Given the description of an element on the screen output the (x, y) to click on. 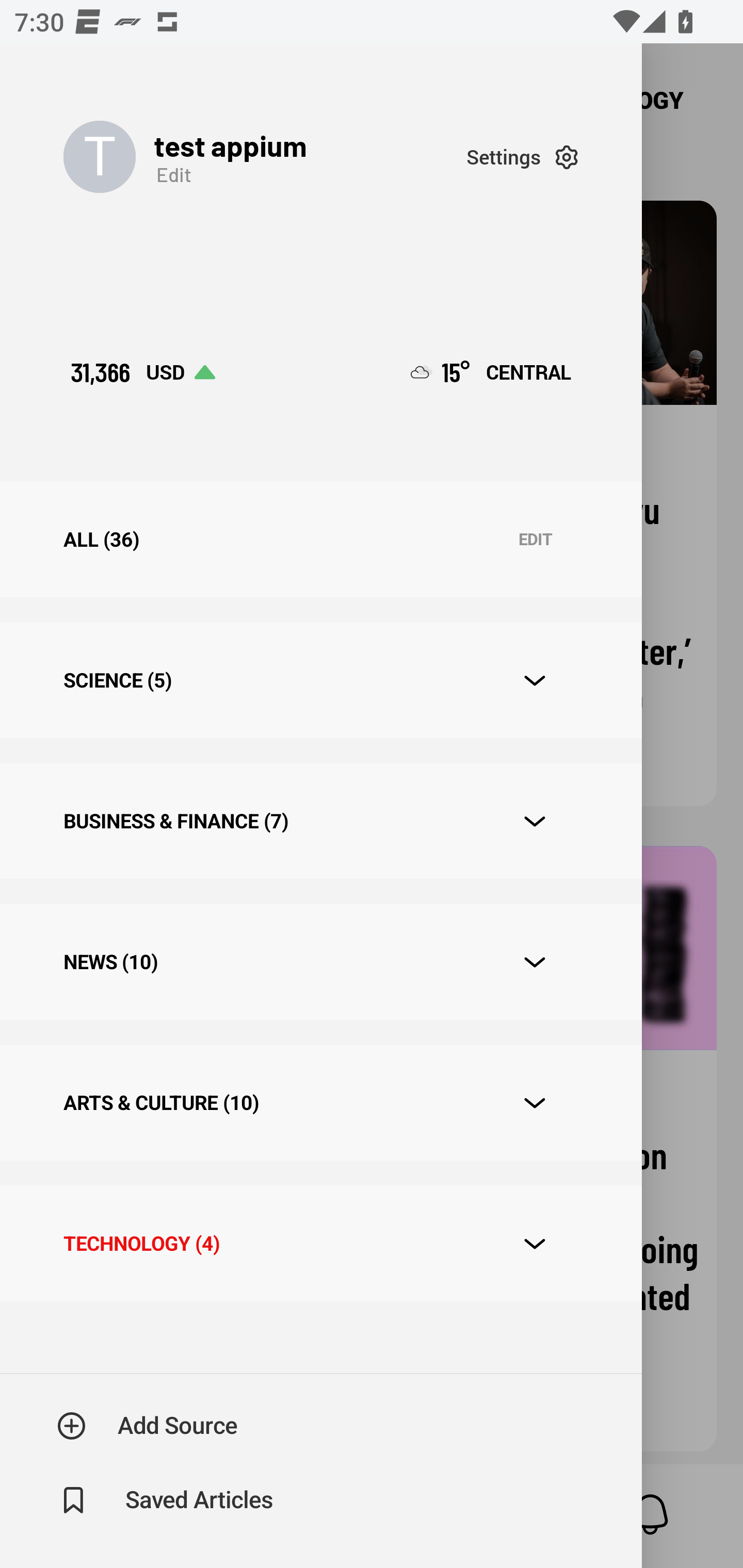
T test appium Edit (264, 156)
Settings Select News Style (522, 156)
31,366 USD Current State of the Currency (142, 372)
Current State of the Weather 15° CENTRAL (490, 372)
ALL  (36) EDIT (320, 539)
EDIT (534, 540)
SCIENCE  (5) Expand Button (320, 680)
Expand Button (534, 681)
BUSINESS & FINANCE  (7) Expand Button (320, 821)
Expand Button (534, 821)
NEWS  (10) Expand Button (320, 961)
Expand Button (534, 961)
ARTS & CULTURE  (10) Expand Button (320, 1102)
Expand Button (534, 1102)
TECHNOLOGY  (4) Expand Button (320, 1243)
Expand Button (534, 1244)
Open Content Store Add Source (147, 1425)
Open Saved News  Saved Articles (166, 1500)
